Given the description of an element on the screen output the (x, y) to click on. 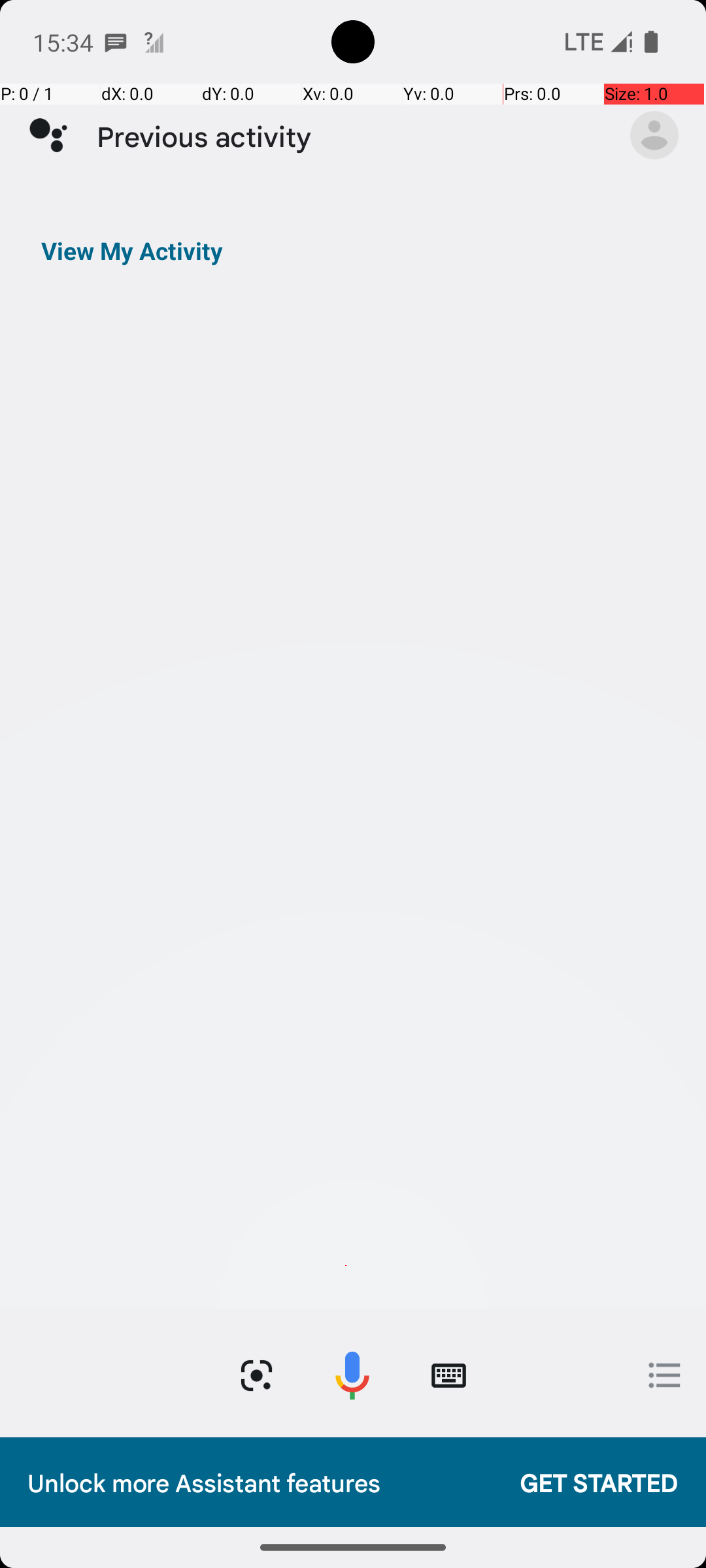
Tap to dismiss Assistant Element type: android.view.ViewGroup (353, 804)
Google Assistant widget. Element type: android.support.v7.widget.RecyclerView (353, 760)
Voice search button, tap to speak Element type: android.view.View (351, 1375)
Type mode Element type: android.widget.ImageView (448, 1375)
Unlock more Assistant features Element type: android.widget.TextView (259, 1481)
GET STARTED Element type: android.widget.TextView (585, 1481)
Open explore page Element type: android.widget.ImageView (664, 1375)
Google assistant Element type: android.widget.ImageView (48, 135)
Previous activity Element type: android.widget.TextView (349, 135)
Google Assistant menu. Element type: android.widget.ImageView (654, 135)
View My Activity Element type: android.widget.TextView (131, 250)
